Given the description of an element on the screen output the (x, y) to click on. 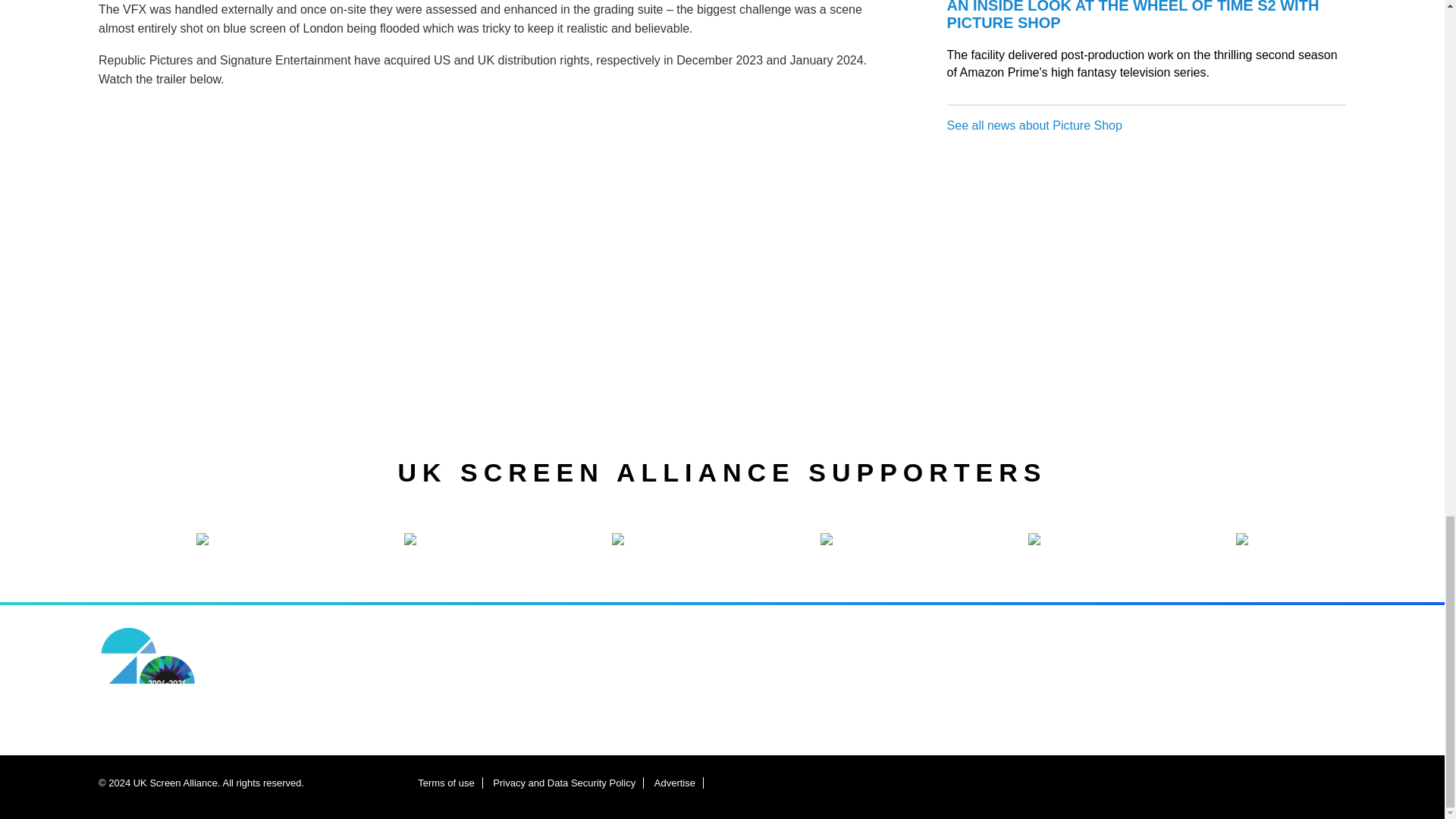
See all news about Picture Shop (1034, 124)
Terms of use (445, 782)
Privacy and Data Security Policy (563, 782)
